Given the description of an element on the screen output the (x, y) to click on. 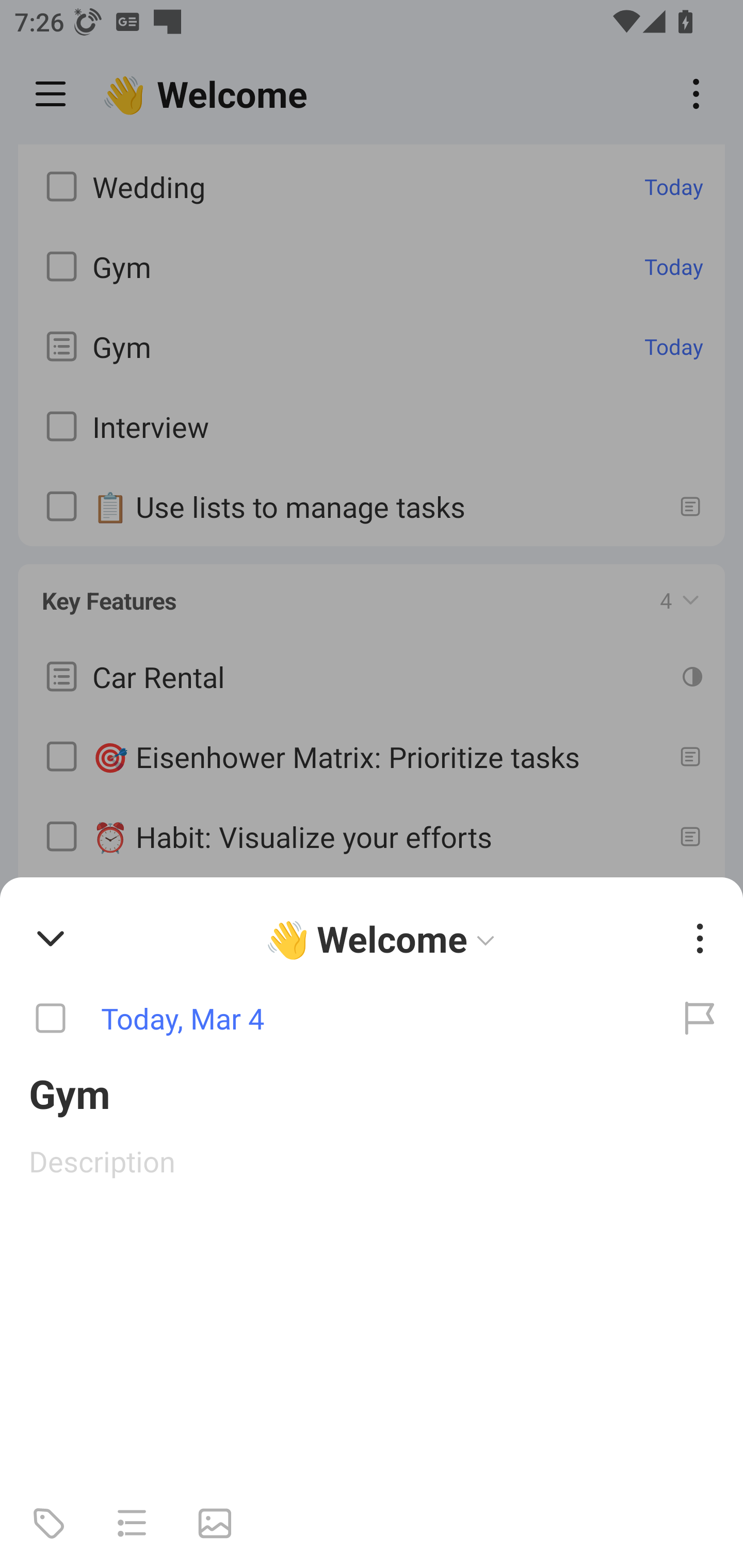
👋 Welcome (384, 938)
Today, Mar 4  (328, 1019)
Gym (371, 1092)
Description (371, 1160)
